Given the description of an element on the screen output the (x, y) to click on. 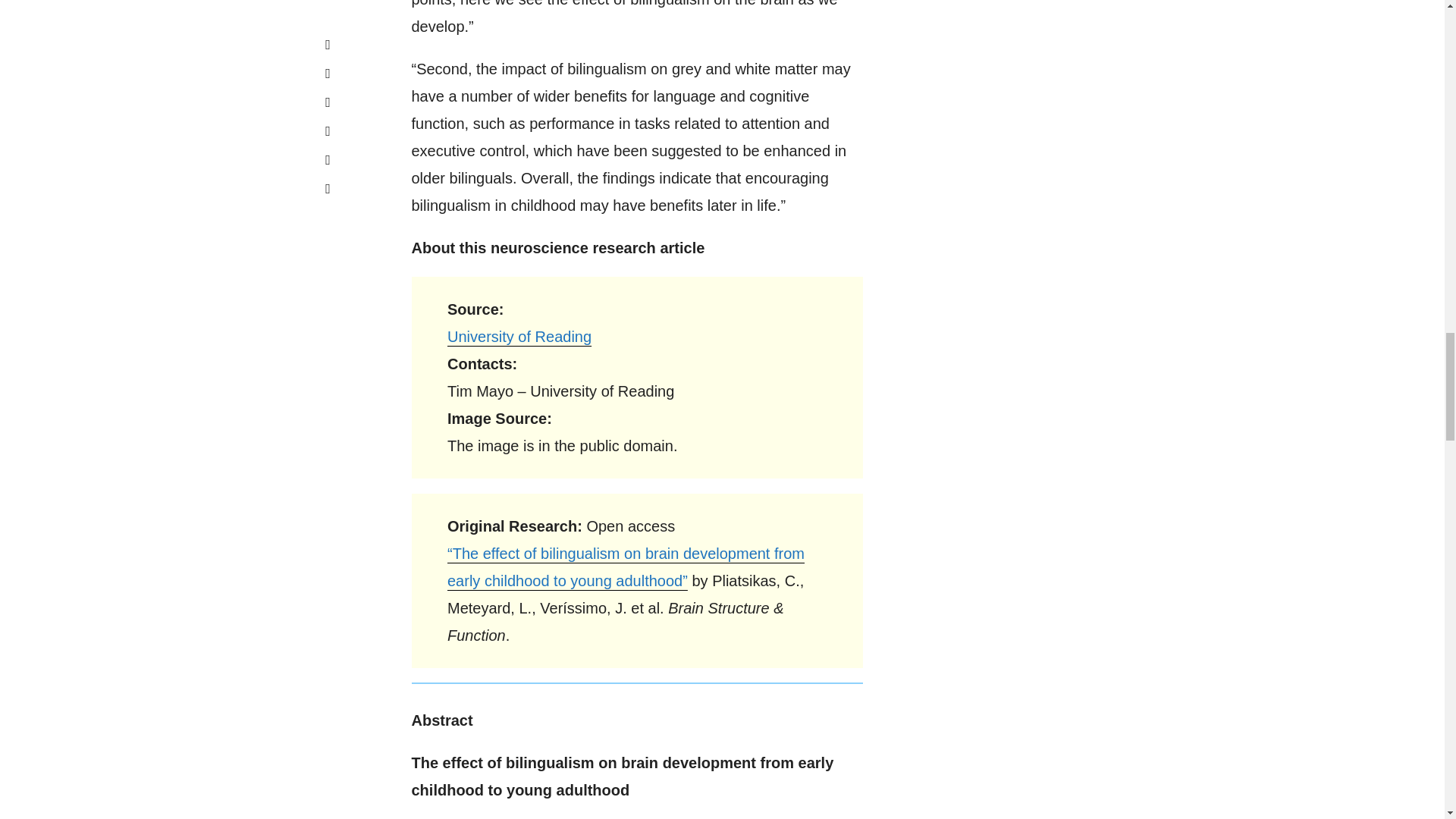
University of Reading (518, 336)
